Given the description of an element on the screen output the (x, y) to click on. 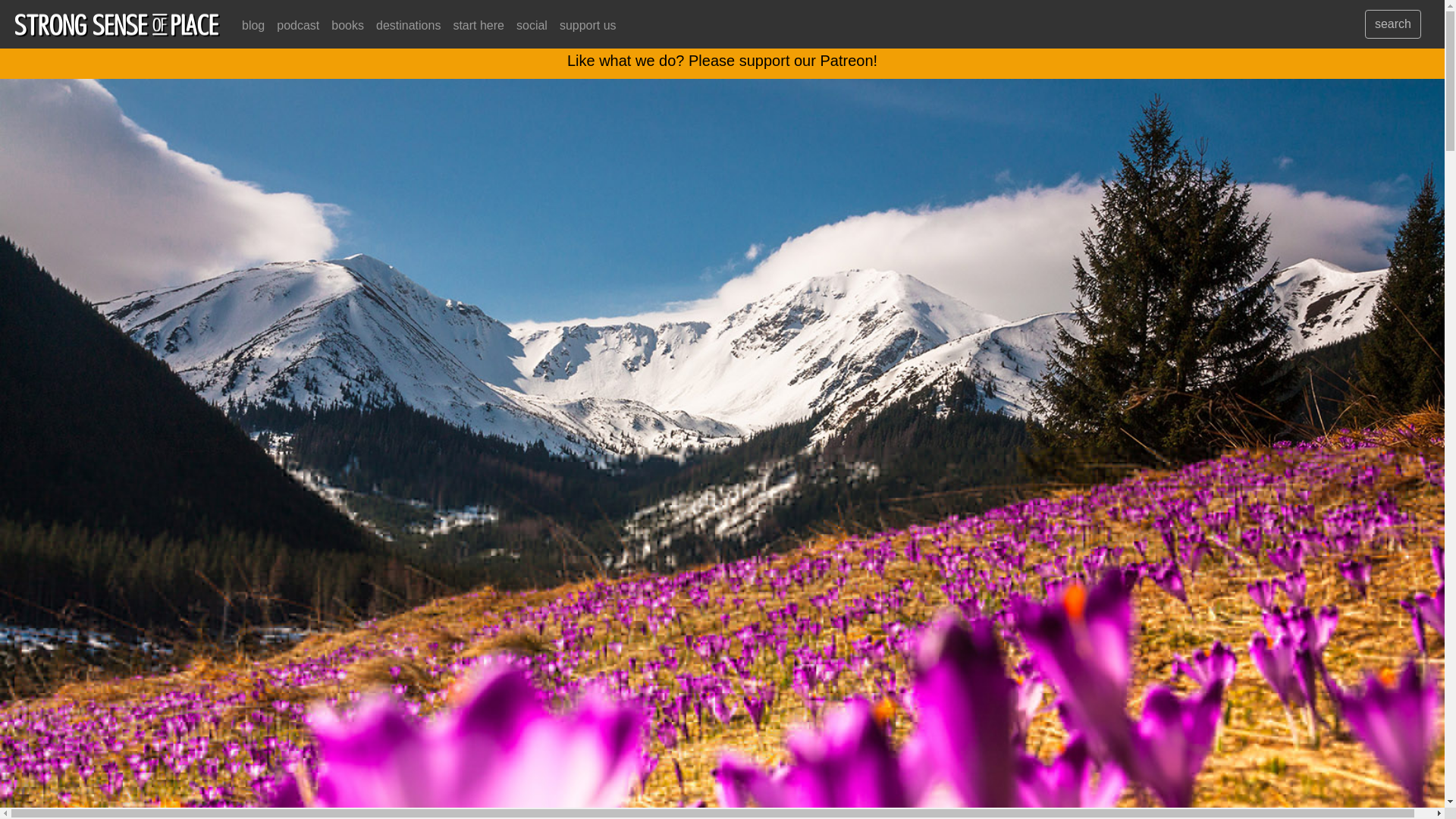
start here (478, 25)
social (532, 25)
search (1393, 23)
Like what we do? Please support our Patreon! (722, 60)
podcast (297, 25)
destinations (407, 25)
blog (252, 25)
books (346, 25)
support us (588, 25)
